Given the description of an element on the screen output the (x, y) to click on. 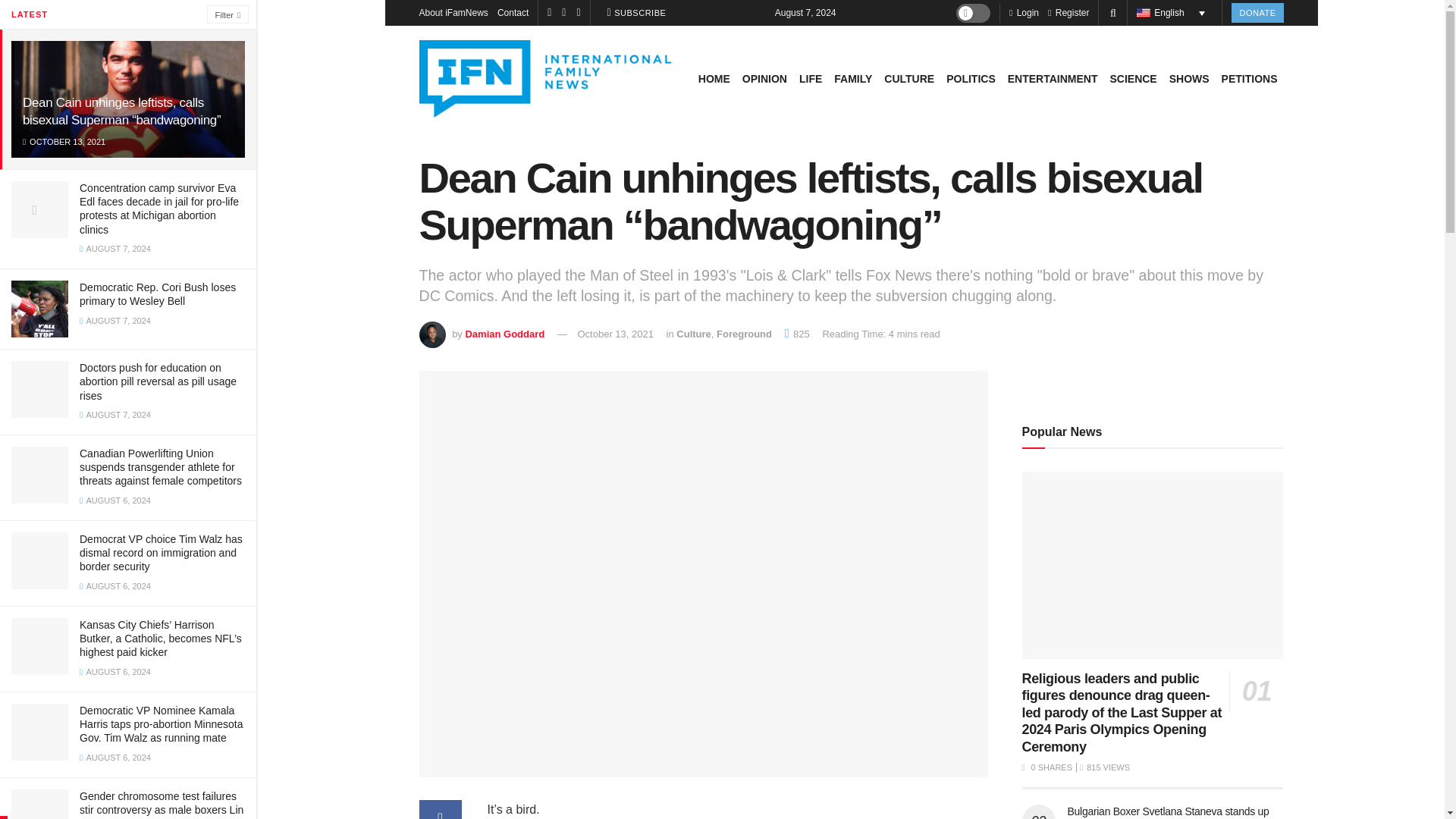
Filter (227, 13)
Login (1024, 12)
SUBSCRIBE (636, 12)
Democratic Rep. Cori Bush loses primary to Wesley Bell (157, 294)
Register (1068, 12)
